Given the description of an element on the screen output the (x, y) to click on. 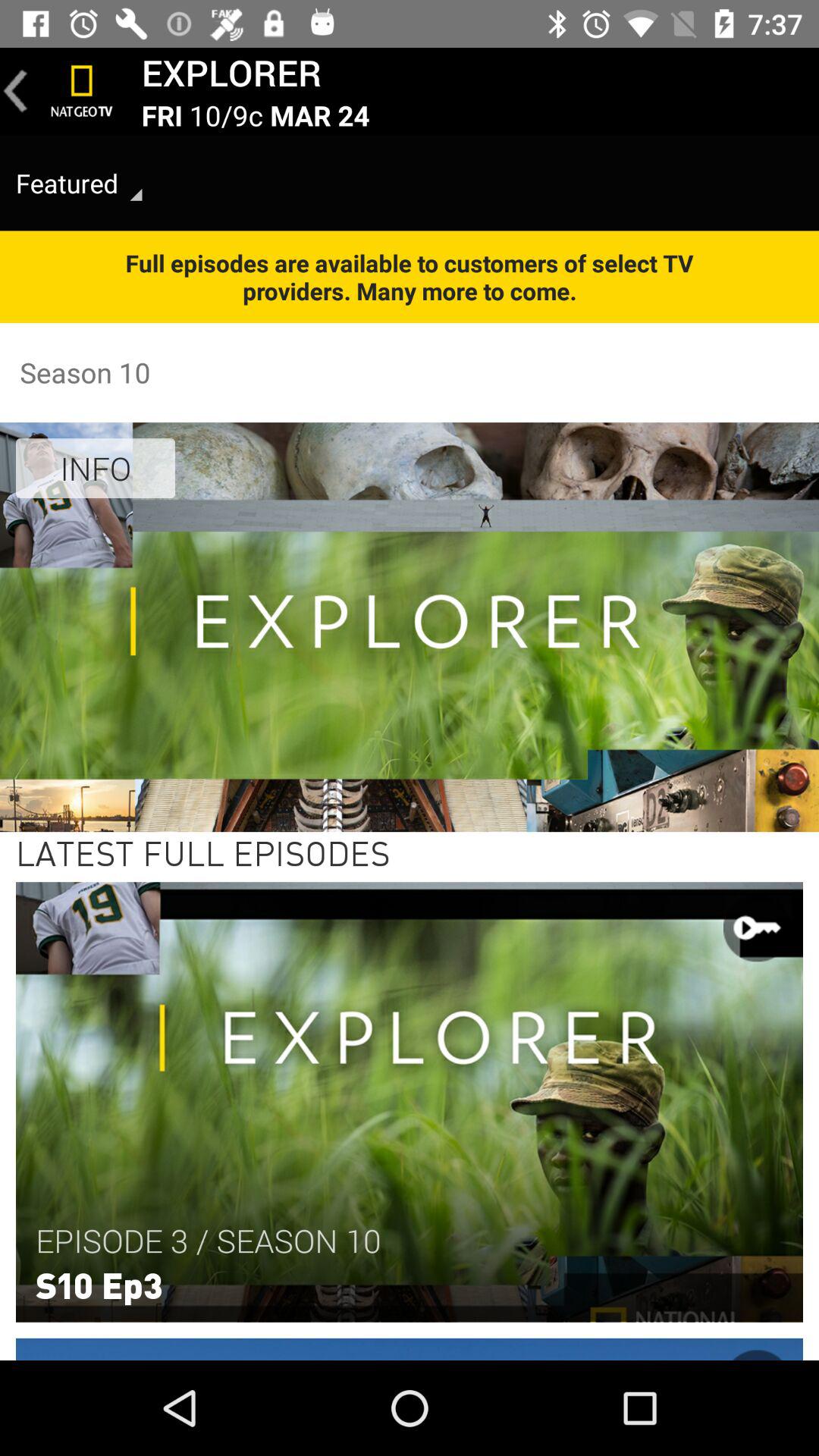
select the item to the left of explorer (81, 90)
